Given the description of an element on the screen output the (x, y) to click on. 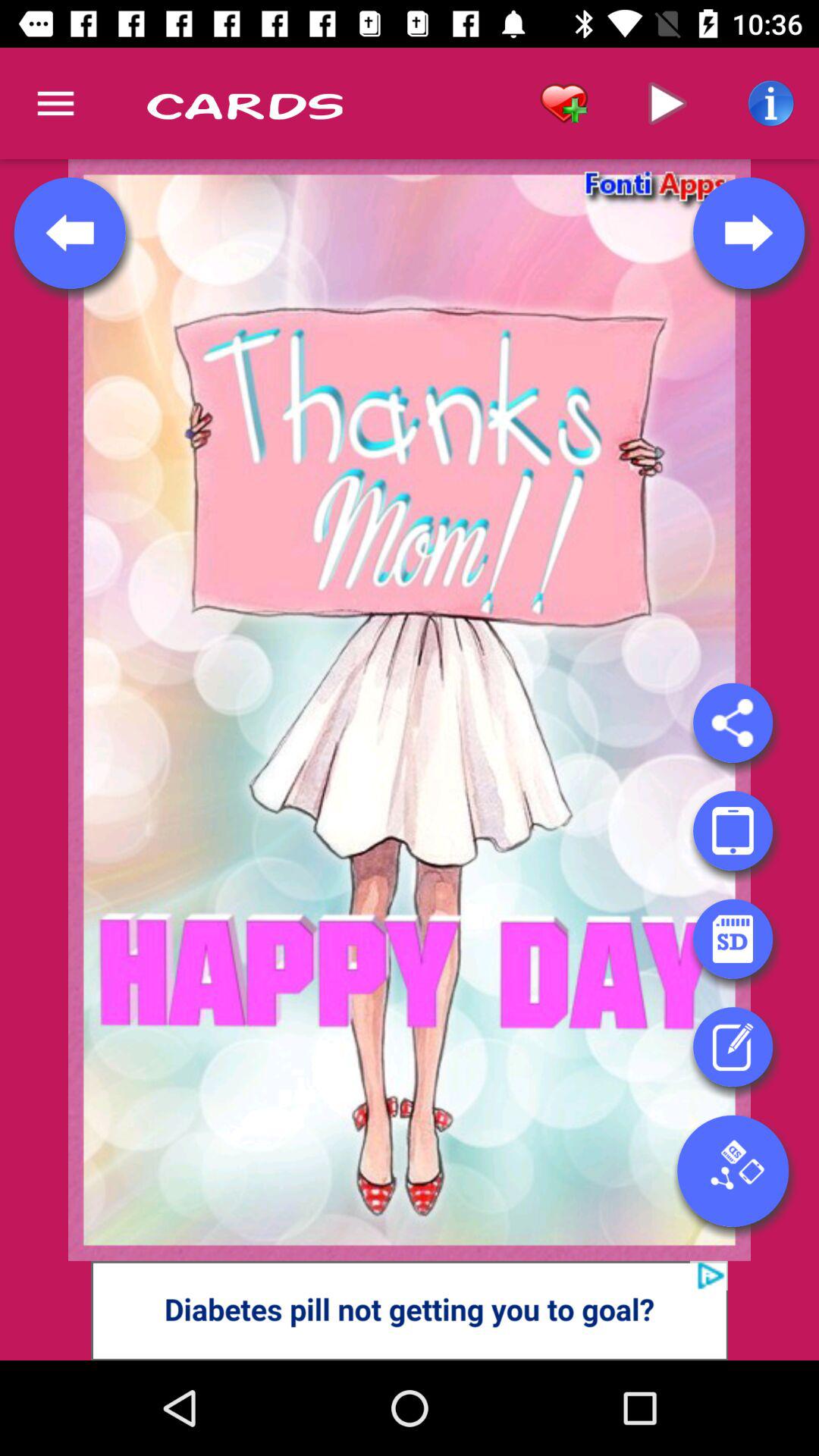
go back (69, 233)
